Given the description of an element on the screen output the (x, y) to click on. 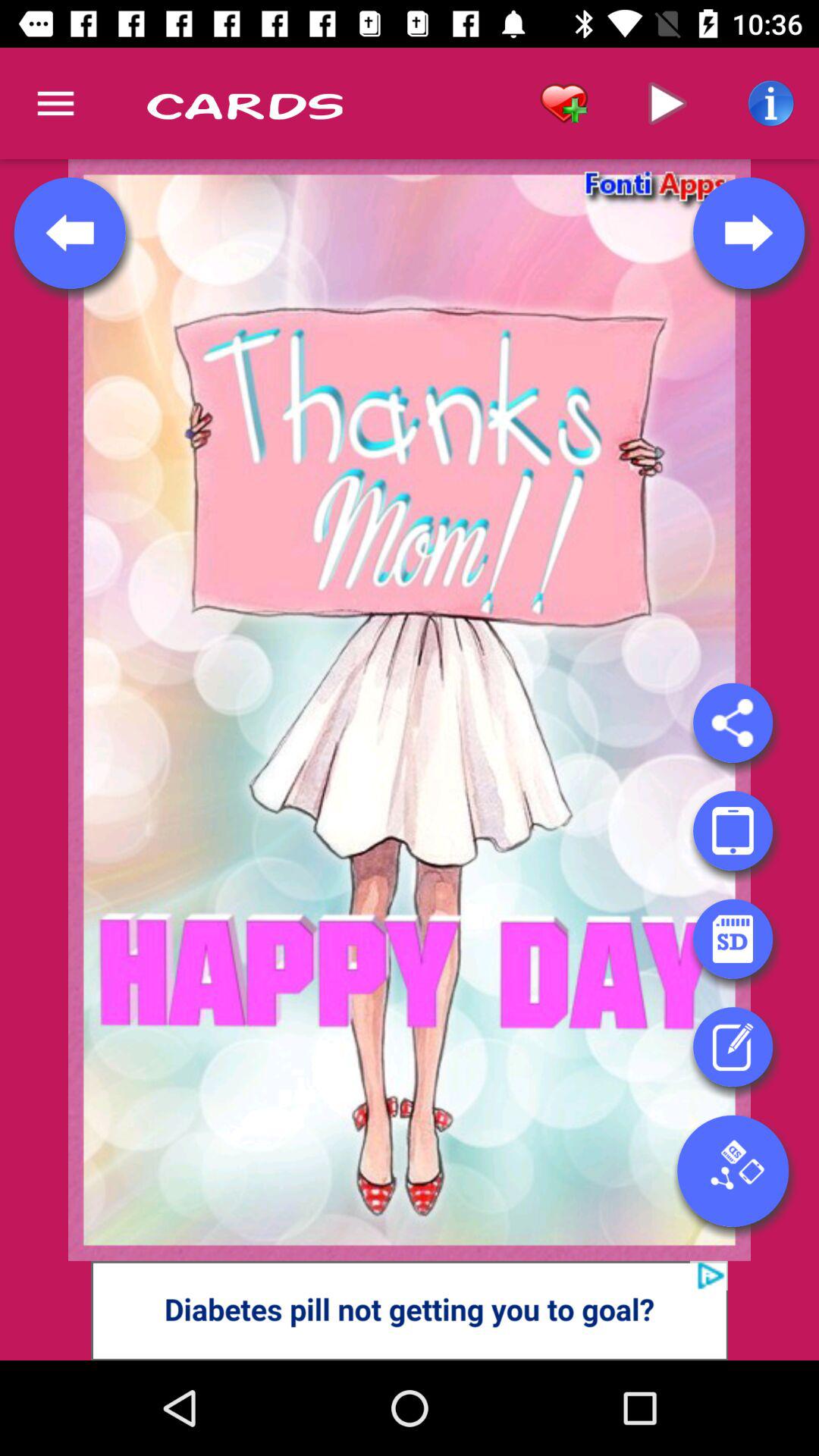
go back (69, 233)
